Given the description of an element on the screen output the (x, y) to click on. 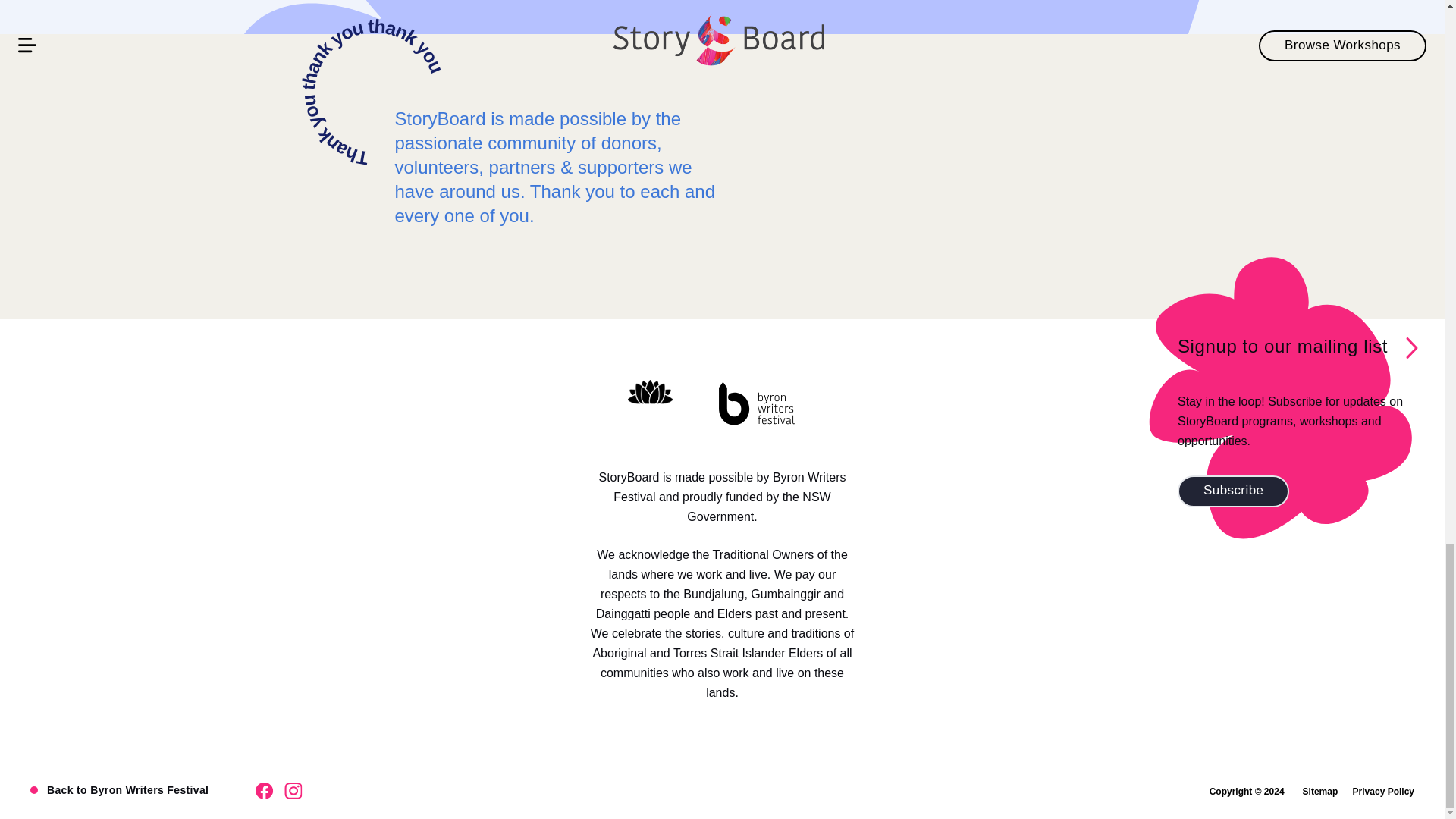
Privacy Policy (1382, 791)
Sitemap (1320, 791)
Subscribe (1232, 490)
Thank you thank you thank you (373, 93)
Visit Storyboard on instagram (292, 791)
Back to Byron Writers Festival (121, 791)
Signup to our mailing list (1282, 345)
Visit Storyboard on Facebook (264, 791)
